Given the description of an element on the screen output the (x, y) to click on. 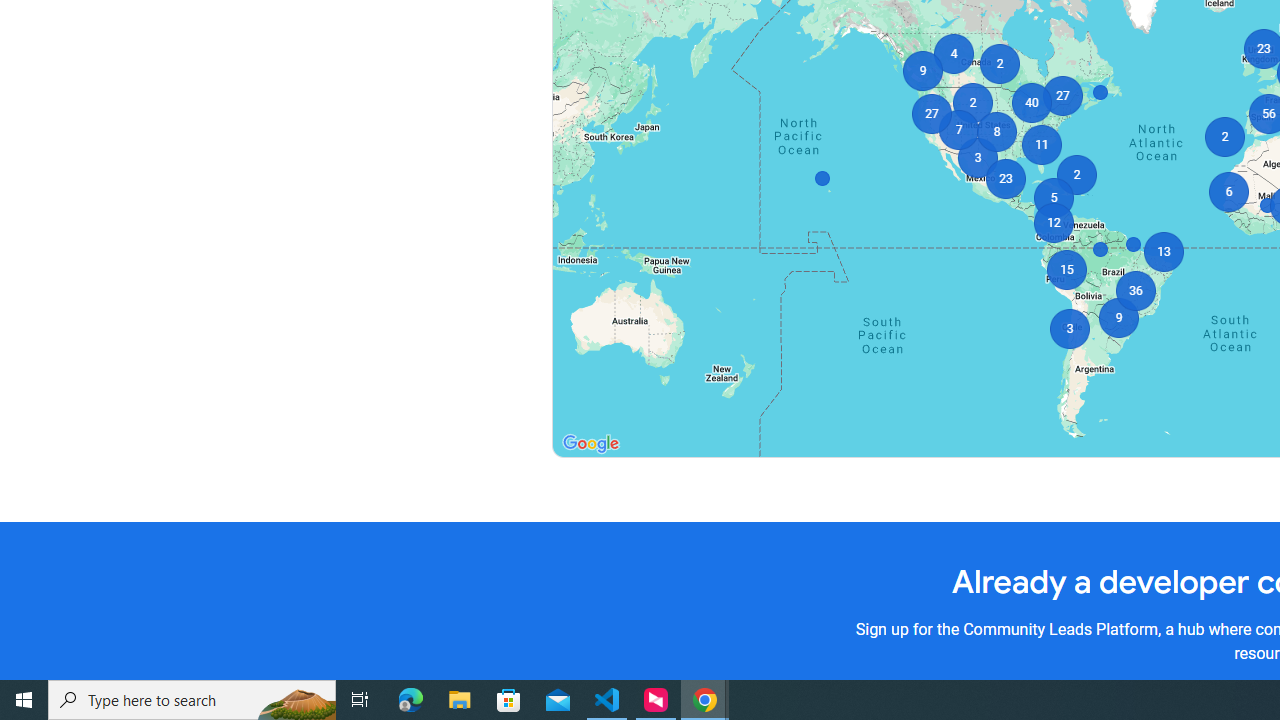
27 (1061, 95)
9 (922, 70)
8 (996, 131)
Google (590, 444)
